Given the description of an element on the screen output the (x, y) to click on. 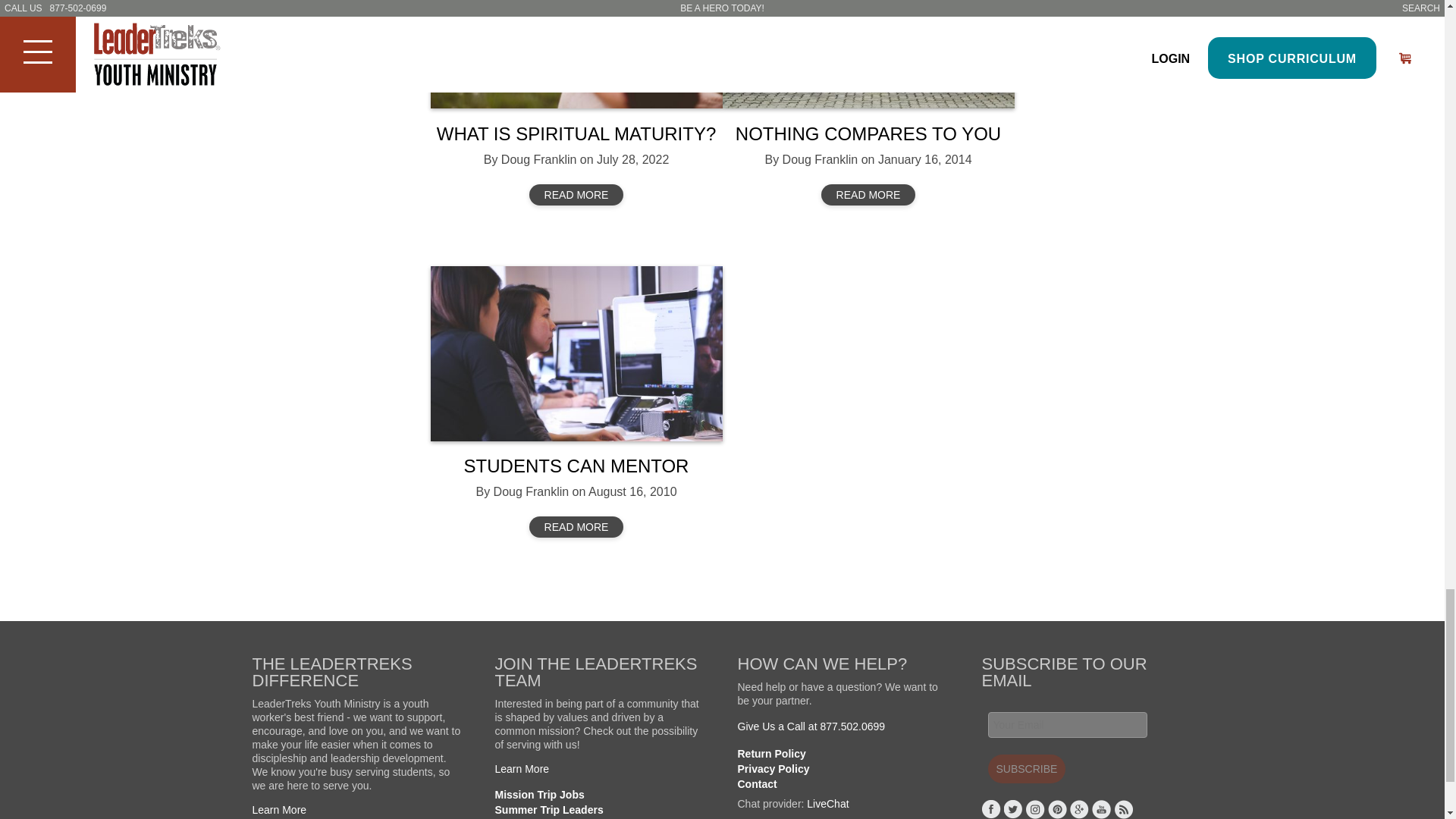
WHAT IS SPIRITUAL MATURITY? (576, 133)
What is Spiritual Maturity? (576, 54)
Nothing Compares To You (867, 54)
READ MORE (576, 194)
Students can Mentor (576, 353)
